Given the description of an element on the screen output the (x, y) to click on. 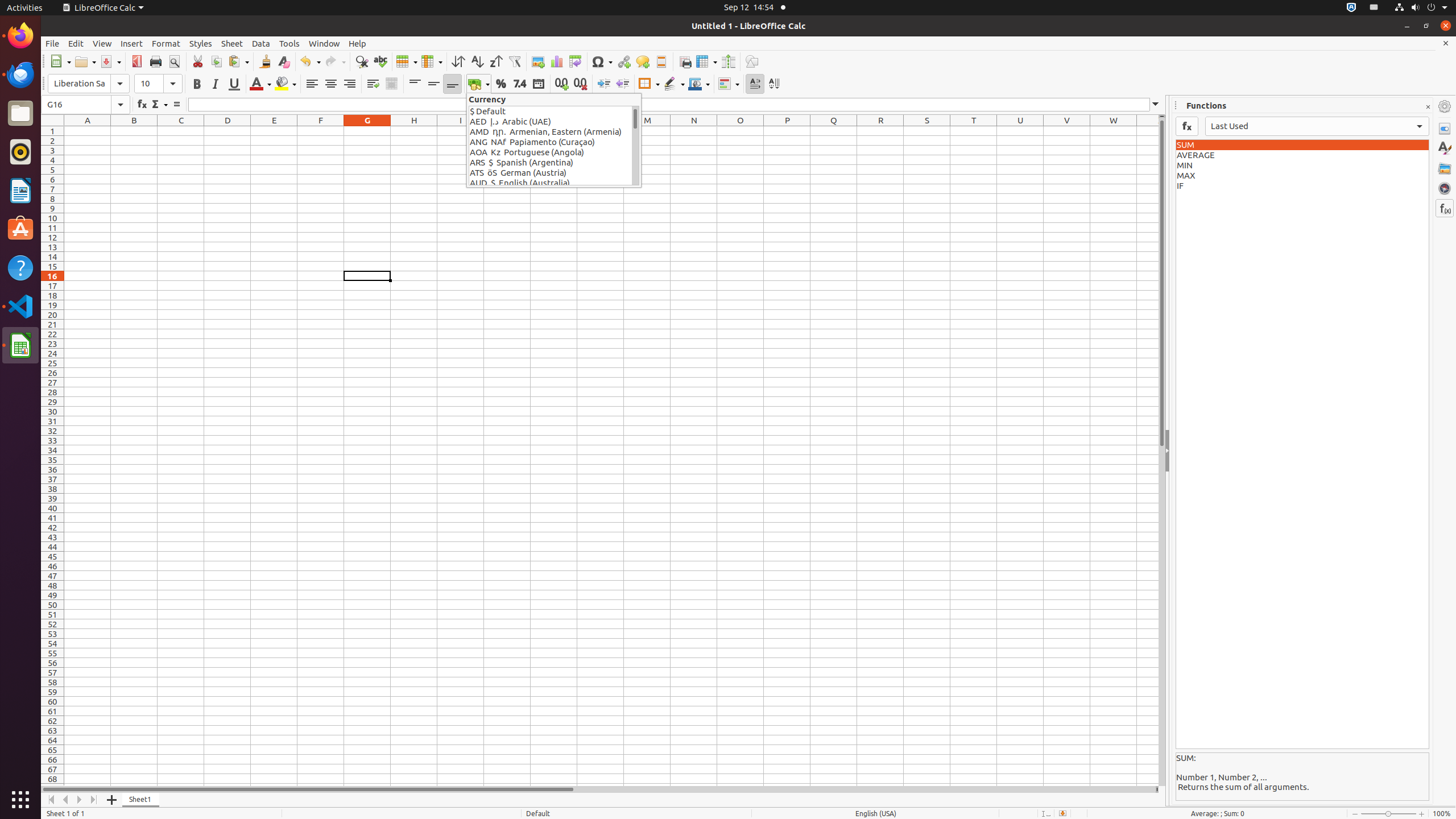
X1 Element type: table-cell (1147, 130)
Underline Element type: push-button (233, 83)
Show Applications Element type: toggle-button (20, 799)
Headers and Footers Element type: push-button (660, 61)
F1 Element type: table-cell (320, 130)
